Given the description of an element on the screen output the (x, y) to click on. 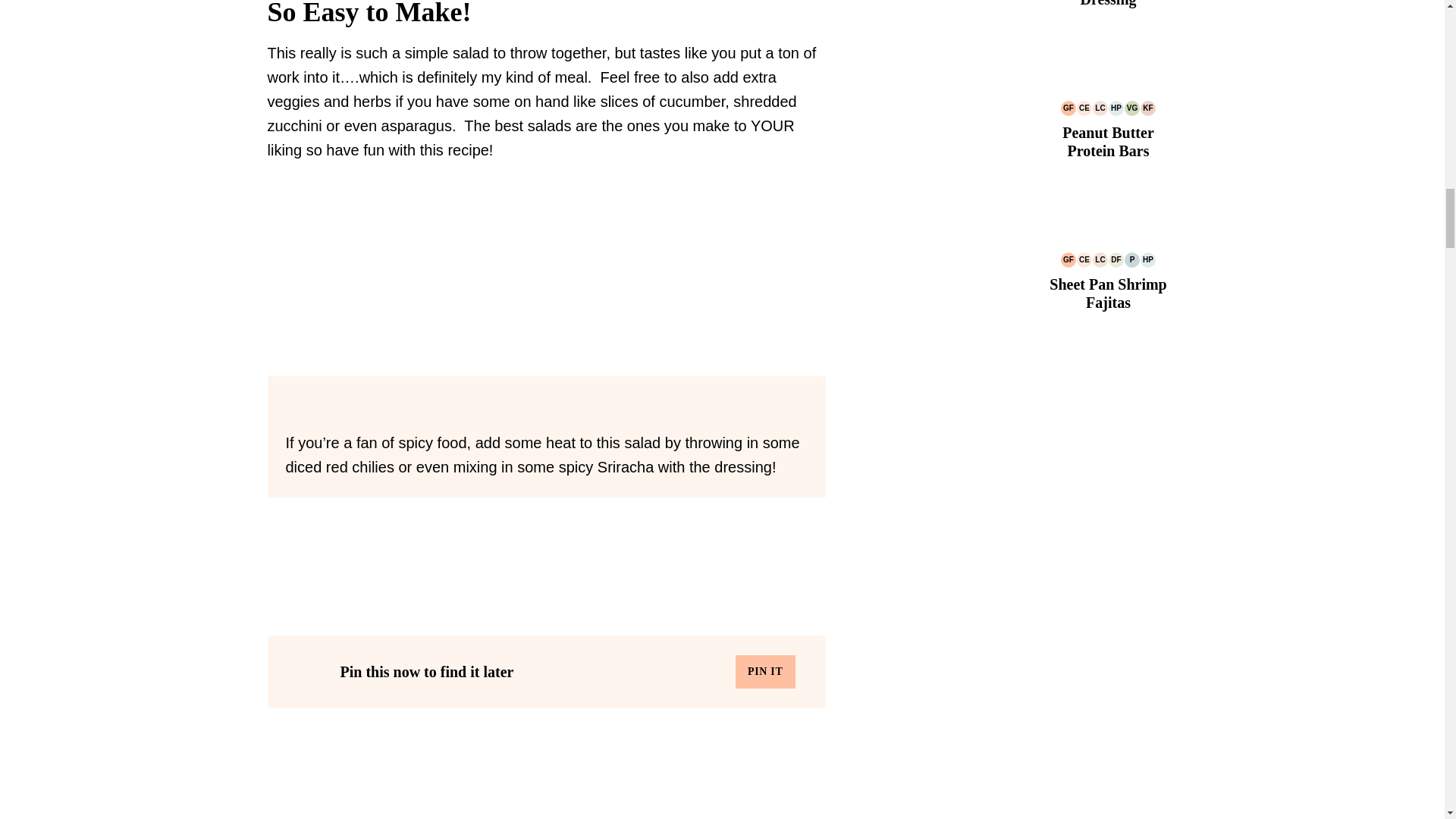
Share on Pinterest (764, 671)
